Given the description of an element on the screen output the (x, y) to click on. 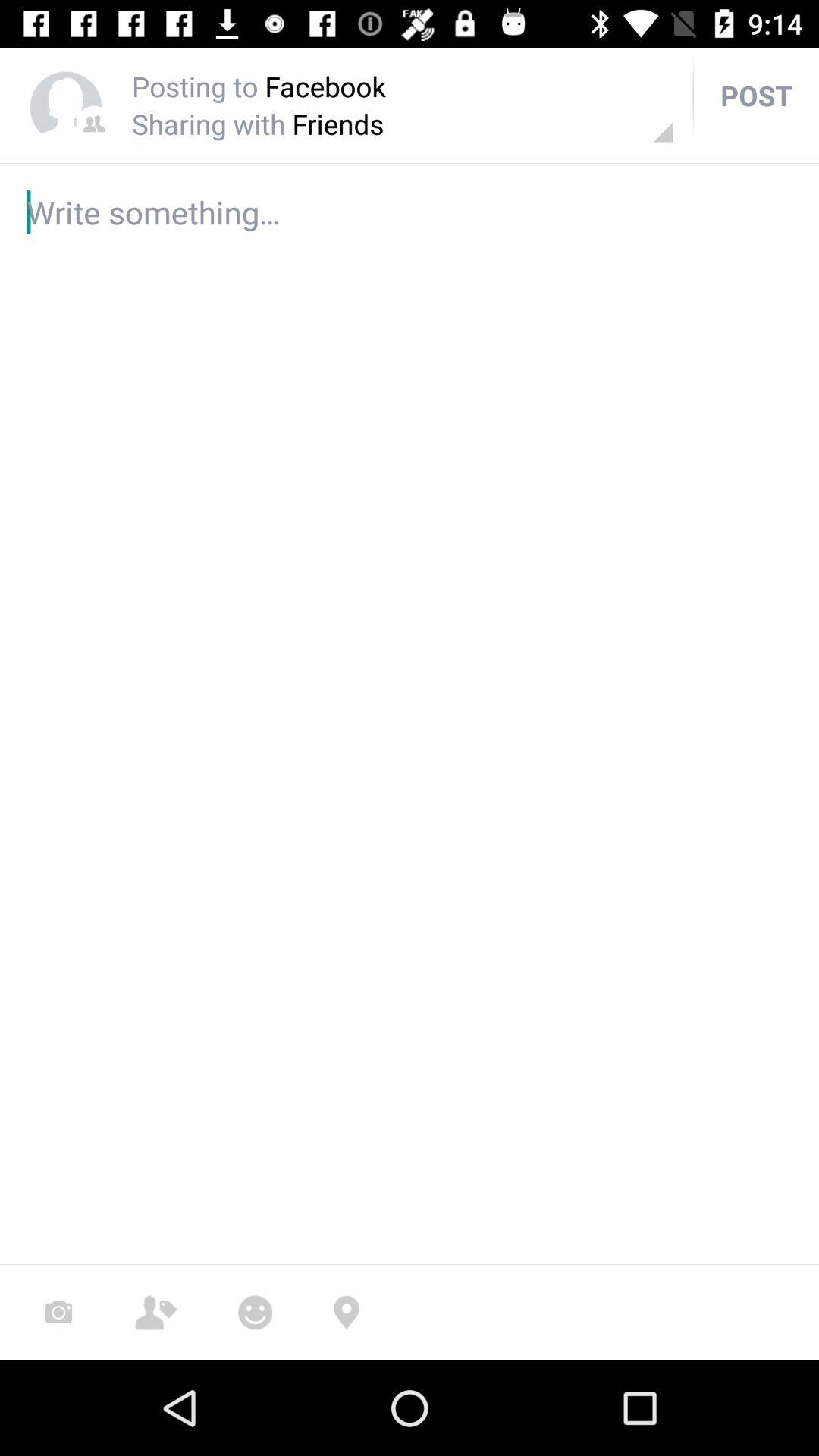
flip until the post (756, 95)
